Given the description of an element on the screen output the (x, y) to click on. 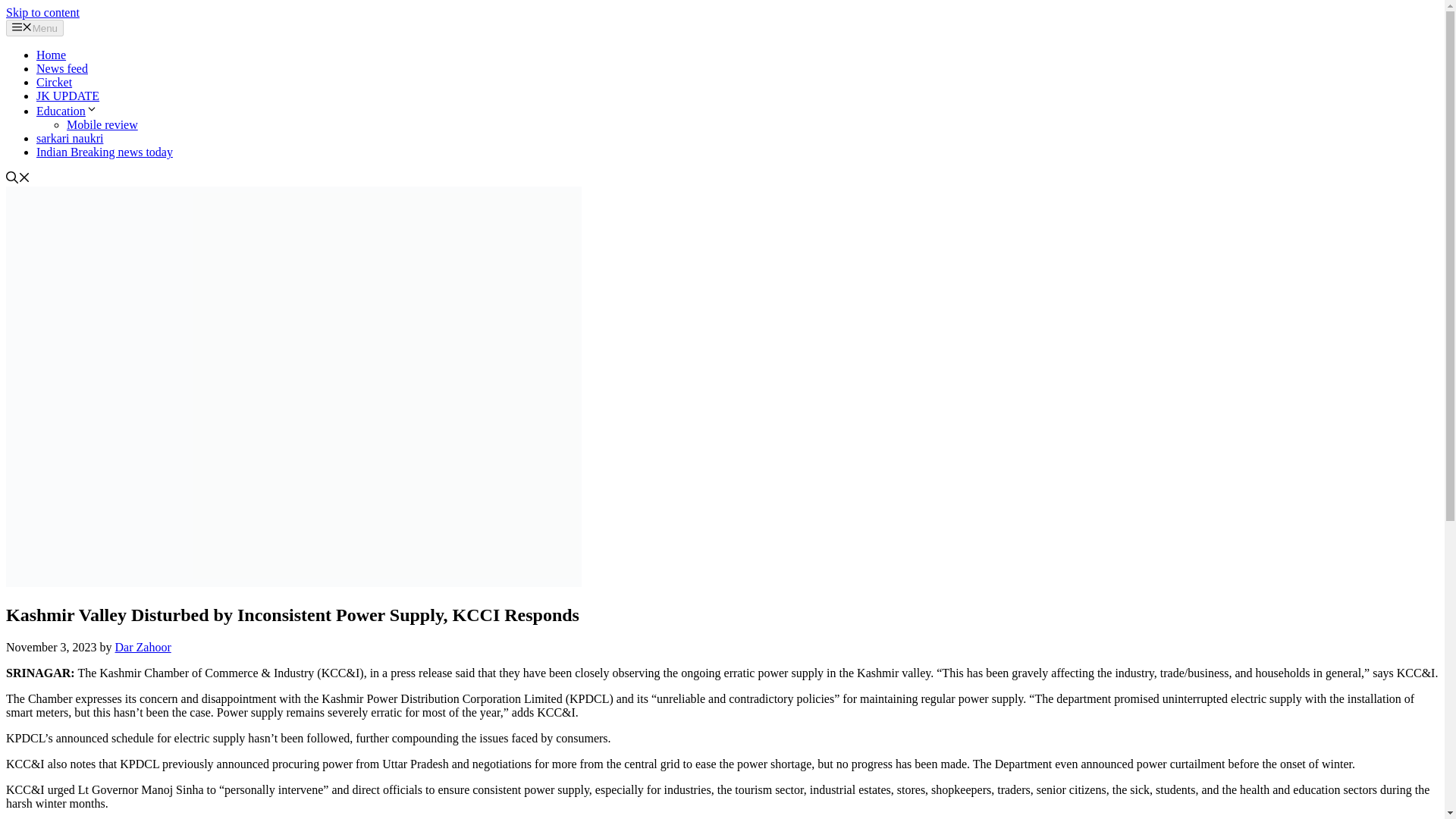
Skip to content (42, 11)
sarkari naukri (69, 137)
Menu (34, 27)
View all posts by Dar Zahoor (143, 646)
Circket (53, 82)
Mobile review (102, 124)
Home (50, 54)
Skip to content (42, 11)
News feed (61, 68)
Indian Breaking news today (104, 151)
Dar Zahoor (143, 646)
Education (66, 110)
JK UPDATE (67, 95)
